Given the description of an element on the screen output the (x, y) to click on. 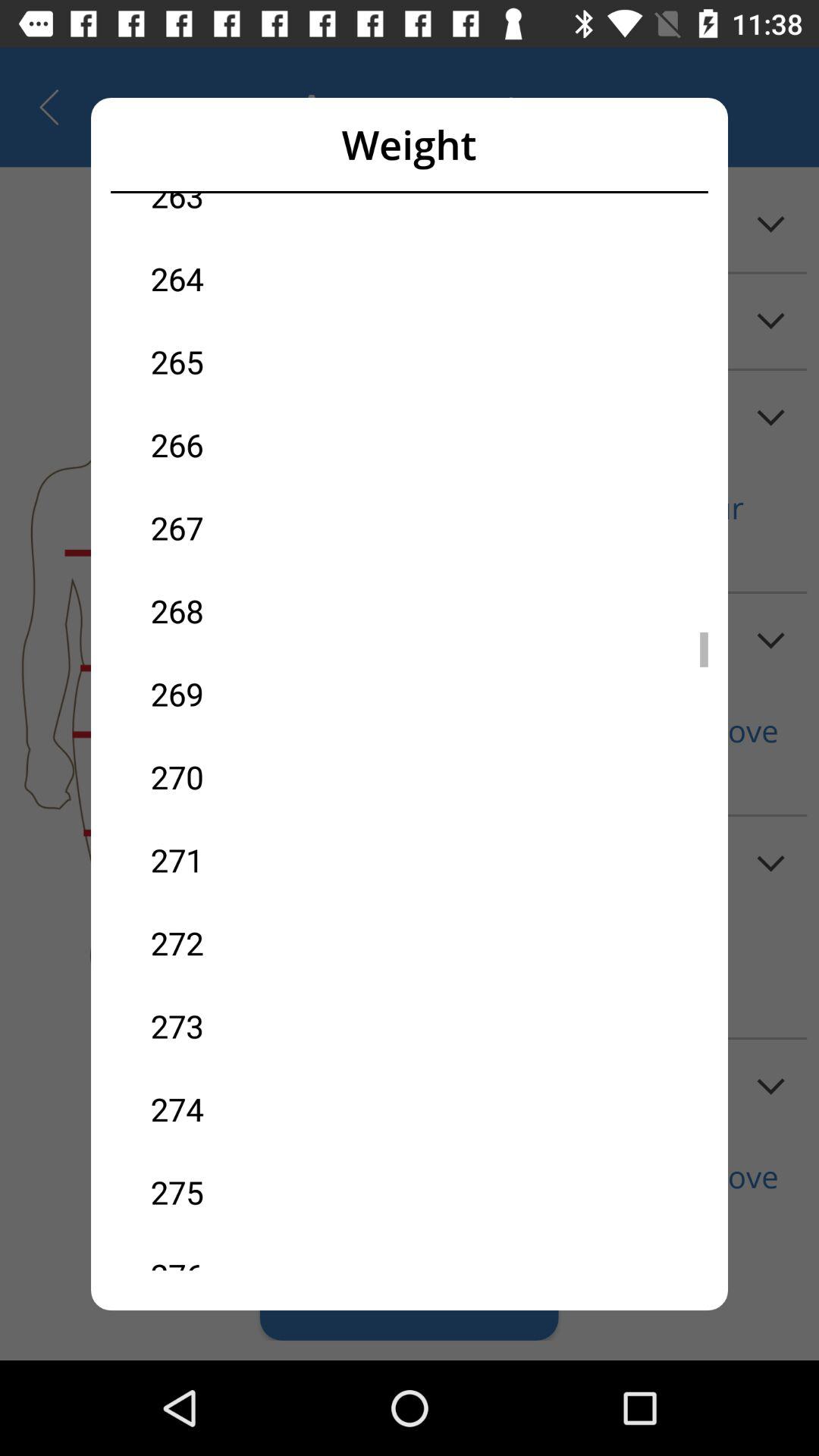
select the icon below 268 icon (279, 693)
